Given the description of an element on the screen output the (x, y) to click on. 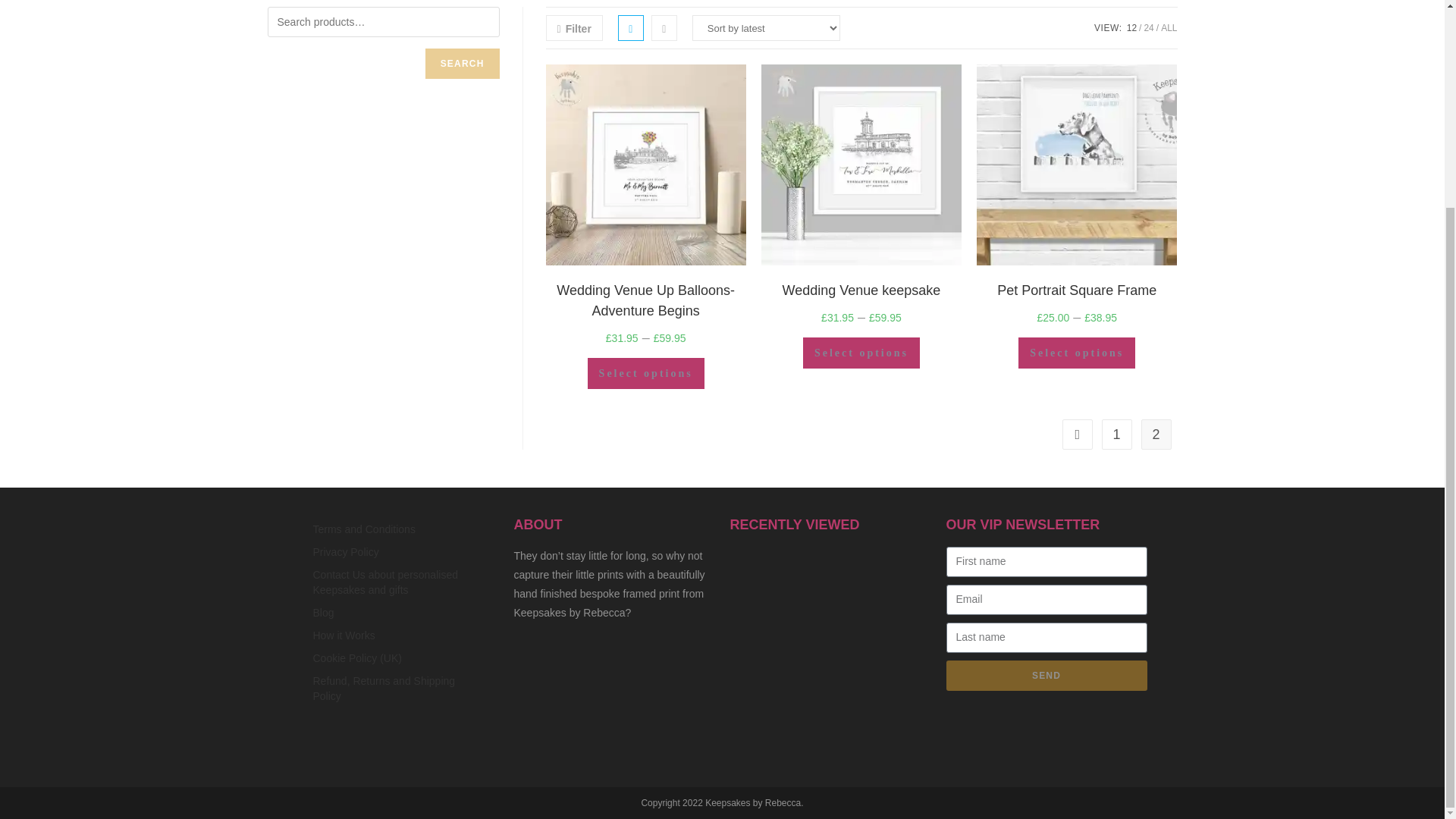
Grid view (630, 27)
List view (663, 27)
Delivery Policy (397, 688)
